Given the description of an element on the screen output the (x, y) to click on. 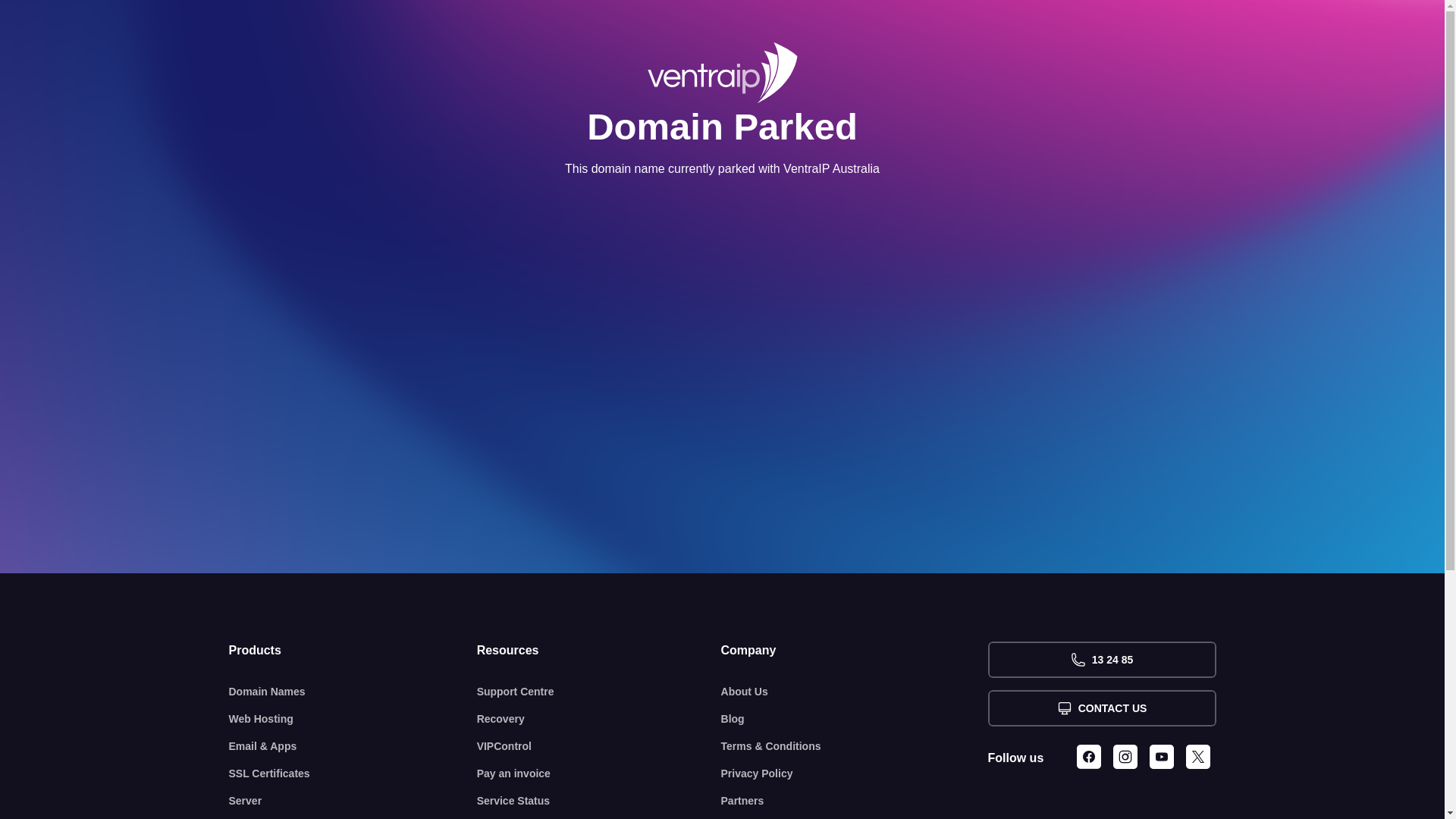
Blog Element type: text (854, 718)
CONTACT US Element type: text (1101, 708)
Recovery Element type: text (598, 718)
Support Centre Element type: text (598, 691)
About Us Element type: text (854, 691)
Partners Element type: text (854, 800)
Web Hosting Element type: text (352, 718)
Server Element type: text (352, 800)
Terms & Conditions Element type: text (854, 745)
VIPControl Element type: text (598, 745)
Email & Apps Element type: text (352, 745)
Service Status Element type: text (598, 800)
13 24 85 Element type: text (1101, 659)
Privacy Policy Element type: text (854, 773)
Pay an invoice Element type: text (598, 773)
Domain Names Element type: text (352, 691)
SSL Certificates Element type: text (352, 773)
